Given the description of an element on the screen output the (x, y) to click on. 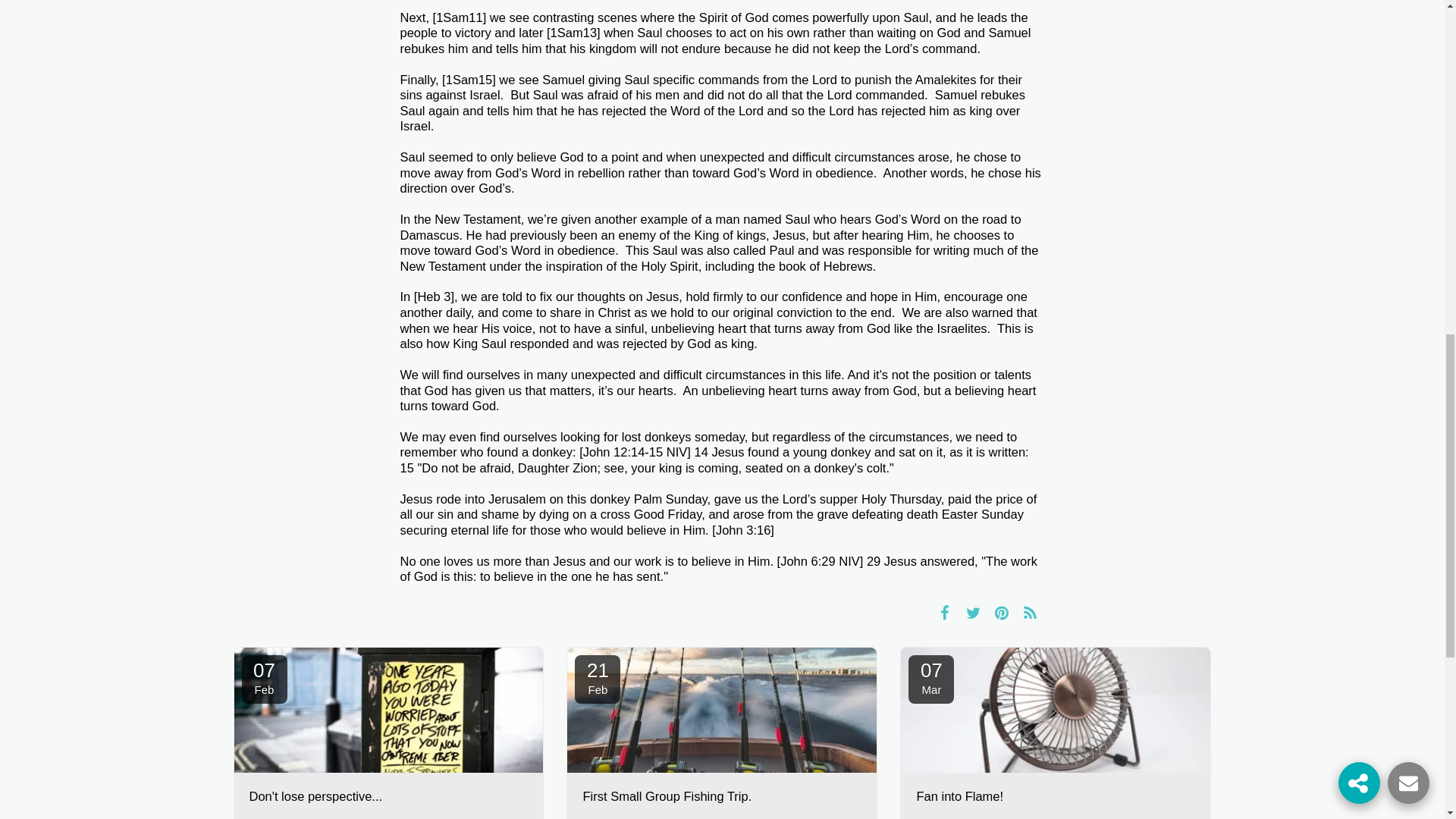
Don't lose perspective... (387, 796)
Tweet (930, 679)
First Small Group Fishing Trip. (973, 612)
Fan into Flame! (721, 796)
Share on Facebook (1055, 796)
Pin it (597, 679)
RSS (945, 612)
